Given the description of an element on the screen output the (x, y) to click on. 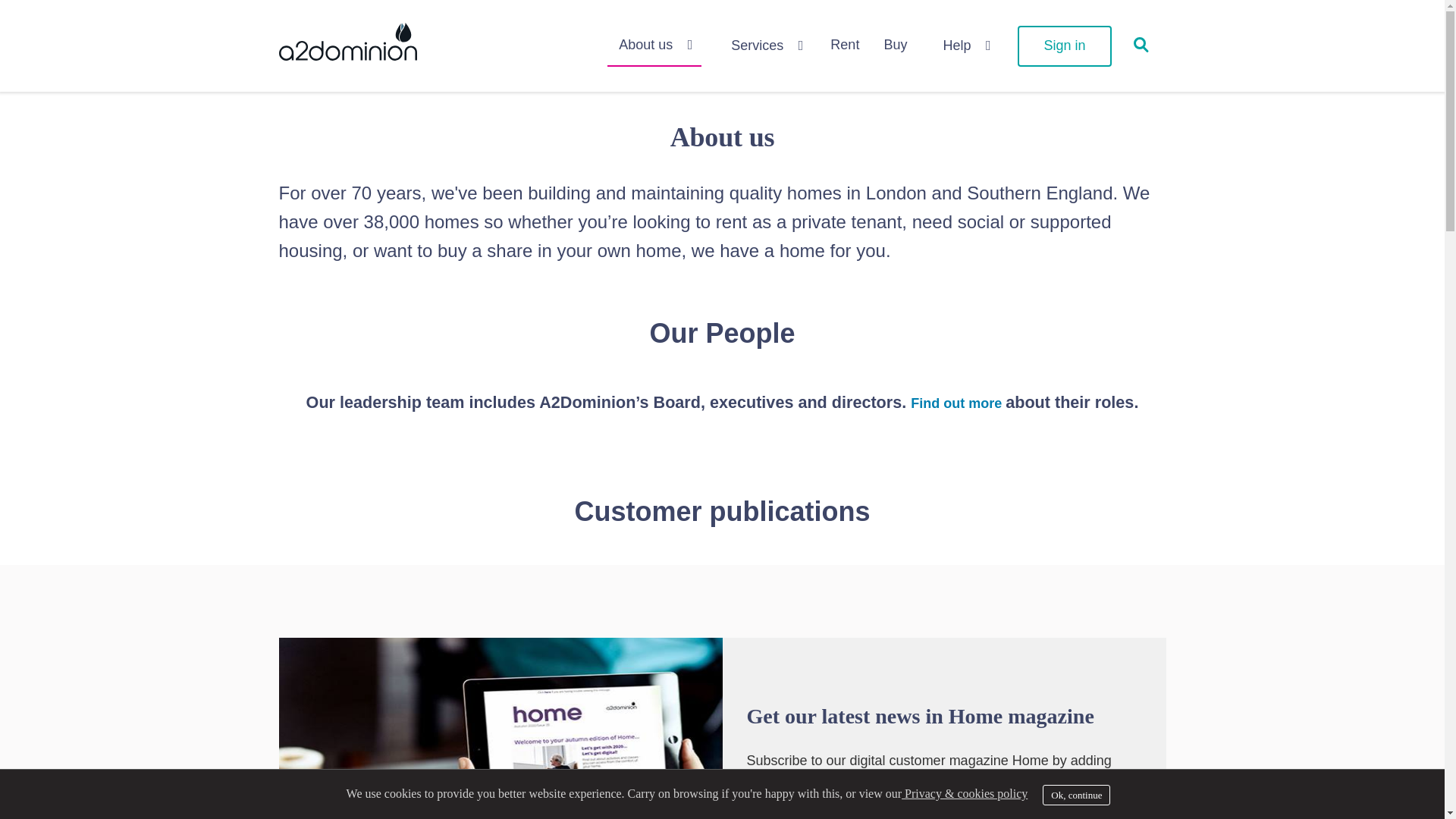
About us (654, 46)
Sign in (1063, 45)
